Given the description of an element on the screen output the (x, y) to click on. 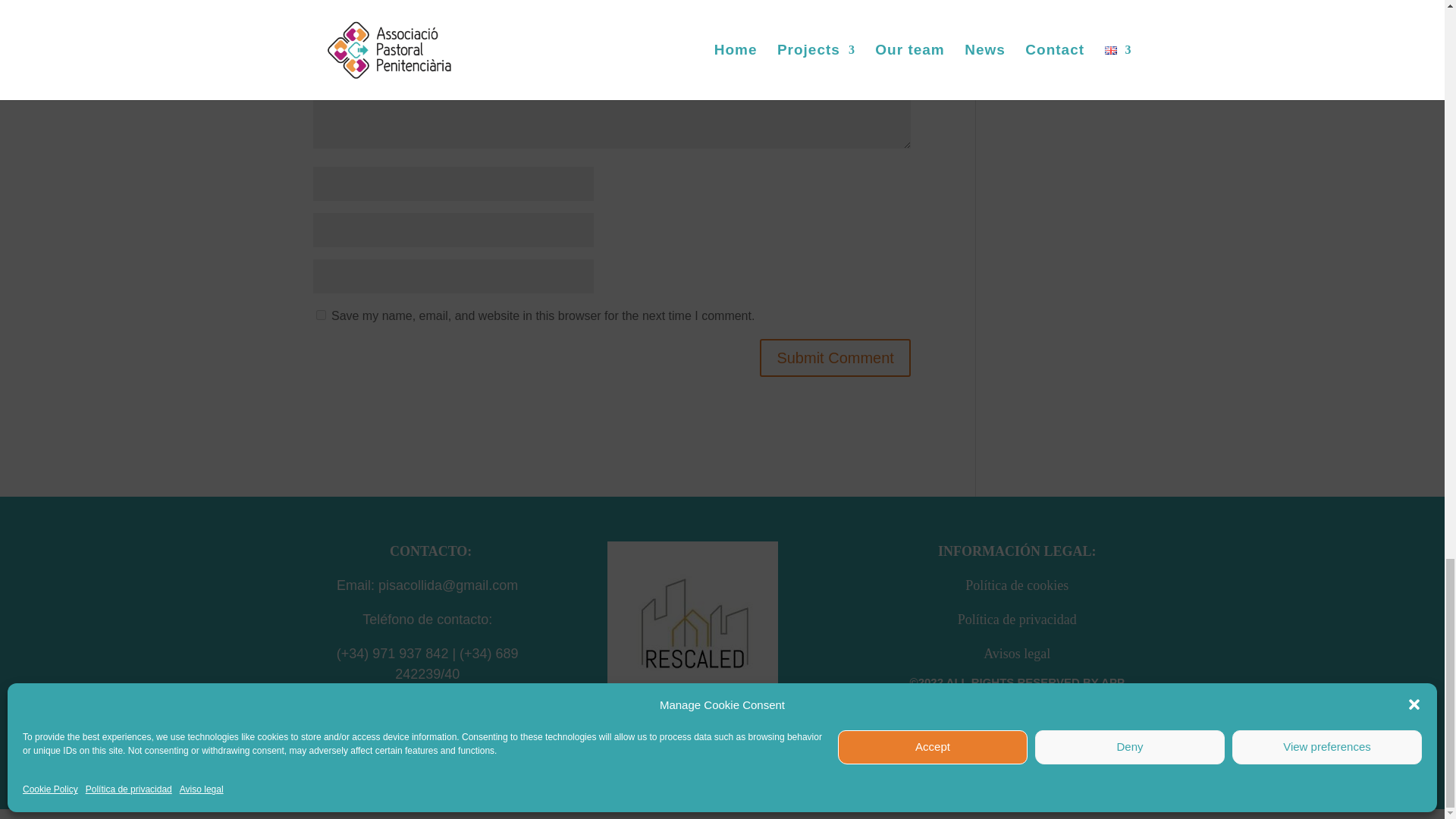
rescaled logo 2 (692, 626)
Submit Comment (835, 357)
yes (319, 315)
Submit Comment (835, 357)
